Given the description of an element on the screen output the (x, y) to click on. 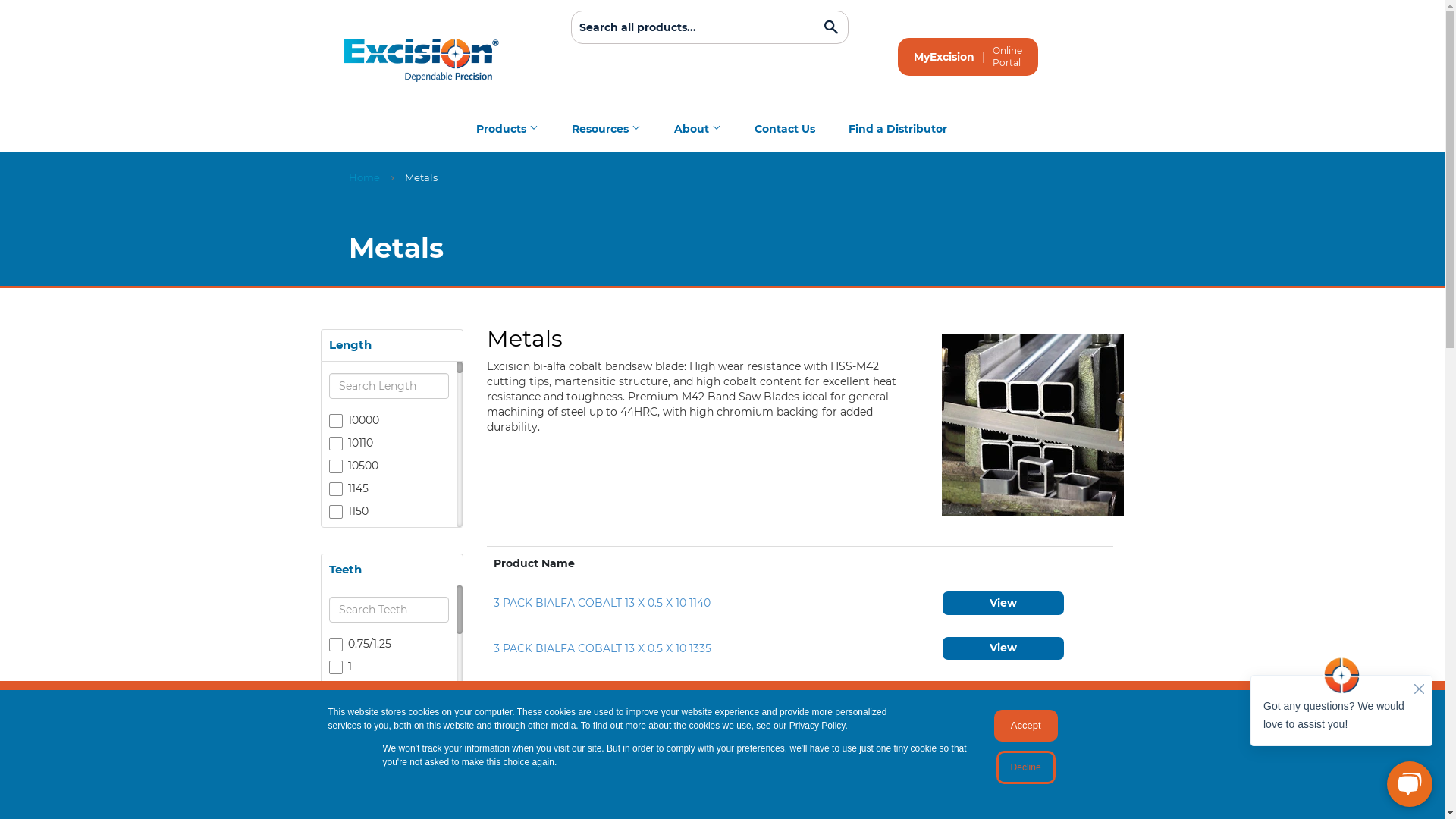
Contact Us Element type: text (784, 128)
1155 Element type: text (388, 533)
MyExcision
|
Online
Portal Element type: text (967, 56)
Products Element type: text (506, 128)
1400 Element type: text (388, 760)
12300 Element type: text (388, 601)
3 PACK BIALFA COBALT 13 X 0.5 X 10 1335 Element type: text (601, 648)
1410 Element type: text (388, 783)
Search Element type: text (831, 27)
1425 Element type: text (388, 806)
1145 Element type: text (388, 487)
View Element type: text (1002, 648)
14 Element type: text (388, 802)
1345 Element type: text (388, 715)
View Element type: text (1002, 603)
108 Element type: text (388, 779)
View Element type: text (1002, 737)
About Element type: text (697, 128)
0.75/1.25 Element type: text (388, 643)
1240 Element type: text (388, 624)
10500 Element type: text (388, 465)
1150 Element type: text (388, 510)
3 PACK BIALFA COBALT 13 X 0.5 X 10 690.3 Element type: text (604, 783)
1300 Element type: text (388, 647)
3 PACK BIALFA COBALT 13 X 0.5 X 10 1140 Element type: text (600, 602)
10110 Element type: text (388, 442)
3 PACK BIALFA COBALT 13 X 0.5 X 10 1440 Element type: text (602, 692)
10/14 Element type: text (388, 757)
12170 Element type: text (388, 578)
1320 Element type: text (388, 669)
Home Element type: text (366, 181)
View Element type: text (1002, 783)
1.1/1.6 Element type: text (388, 688)
Find a Distributor Element type: text (897, 128)
View Element type: text (1002, 693)
1365 Element type: text (388, 738)
Resources Element type: text (605, 128)
10 Element type: text (388, 734)
3 PACK BIALFA COBALT 13 X 0.5 X 10 685.3 Element type: text (604, 738)
1 Element type: text (388, 666)
1170 Element type: text (388, 556)
10000 Element type: text (388, 419)
1330 Element type: text (388, 692)
1.5/2 Element type: text (388, 711)
